Given the description of an element on the screen output the (x, y) to click on. 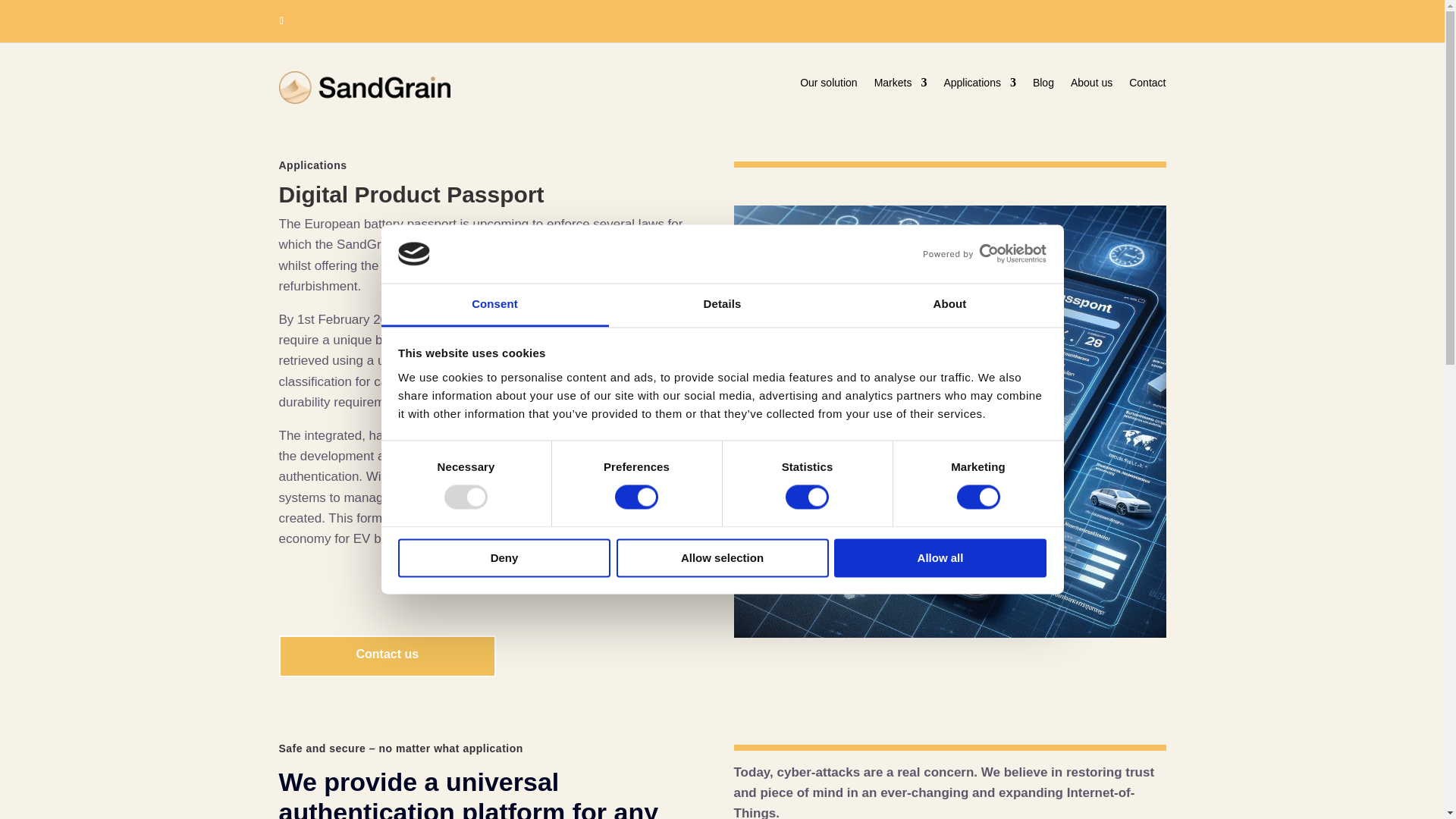
Consent (494, 304)
Follow on LinkedIn (281, 20)
Deny (503, 557)
logo sandgrain (365, 87)
Details (721, 304)
Markets (901, 85)
About (948, 304)
Our solution (828, 85)
Allow all (940, 557)
Allow selection (721, 557)
